Given the description of an element on the screen output the (x, y) to click on. 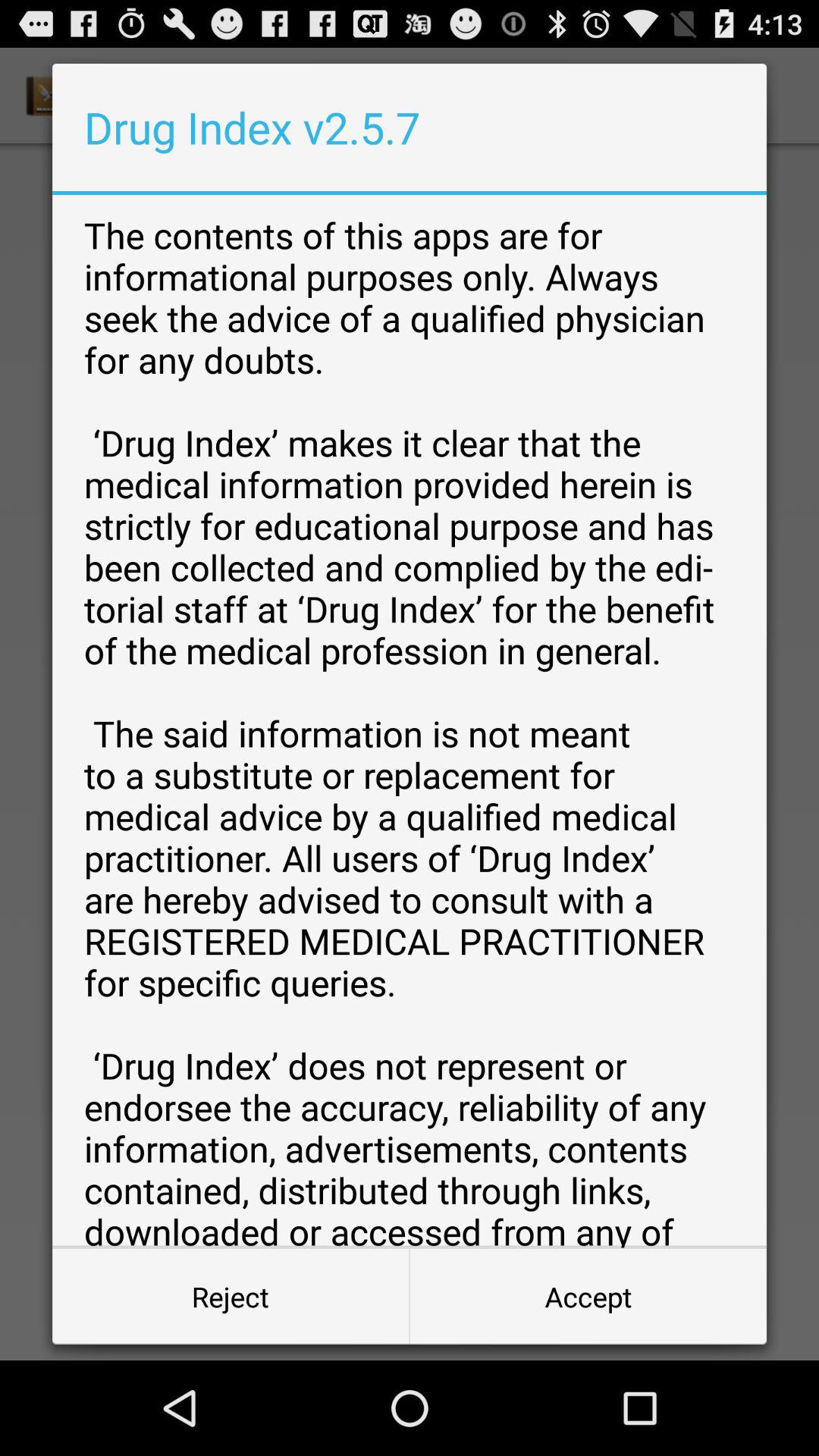
launch item below the the contents of item (588, 1296)
